Given the description of an element on the screen output the (x, y) to click on. 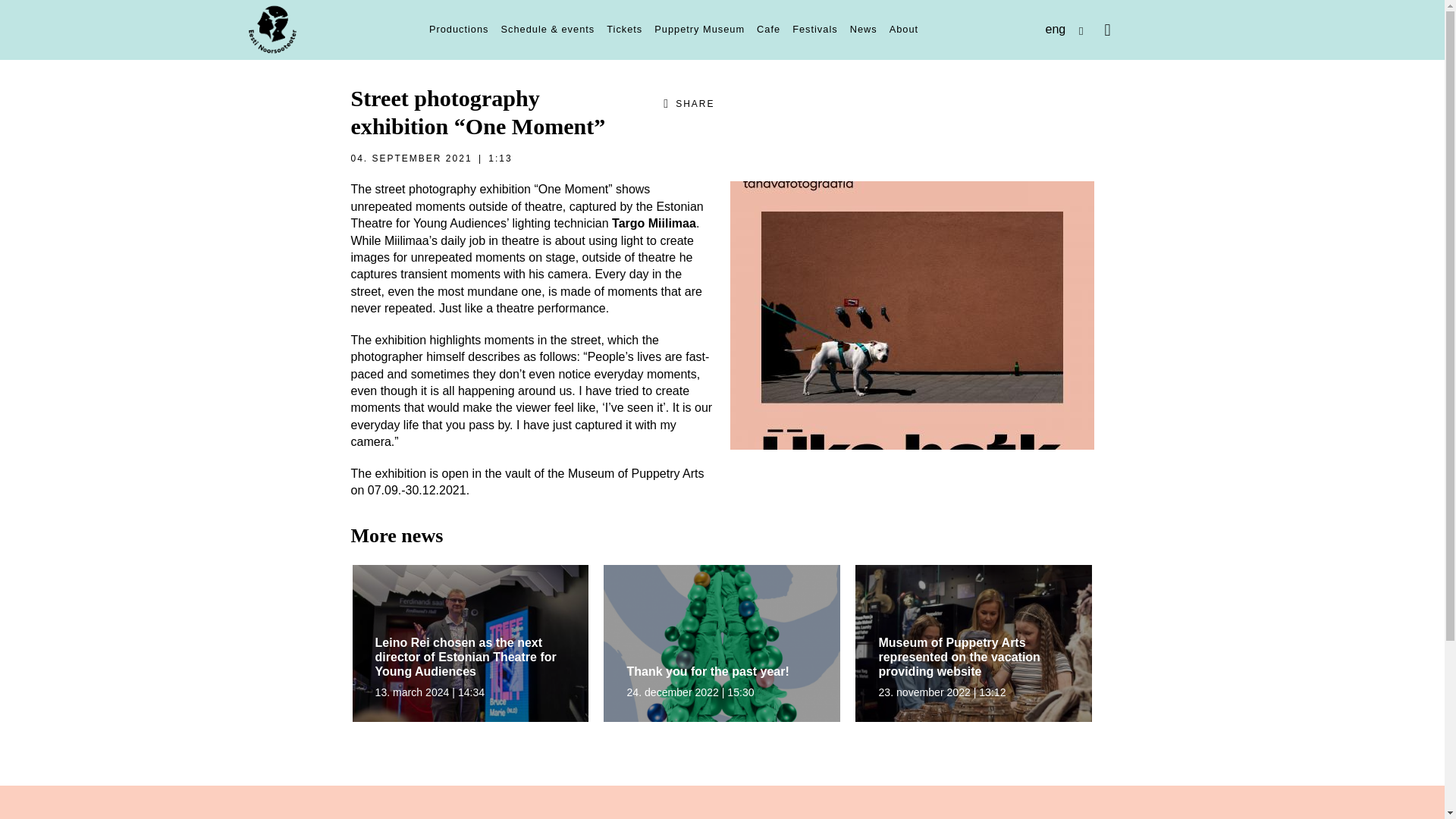
Cafe (768, 29)
Tickets (623, 29)
About (903, 29)
Productions (459, 29)
Festivals (815, 29)
News (863, 29)
Puppetry Museum (699, 29)
